Given the description of an element on the screen output the (x, y) to click on. 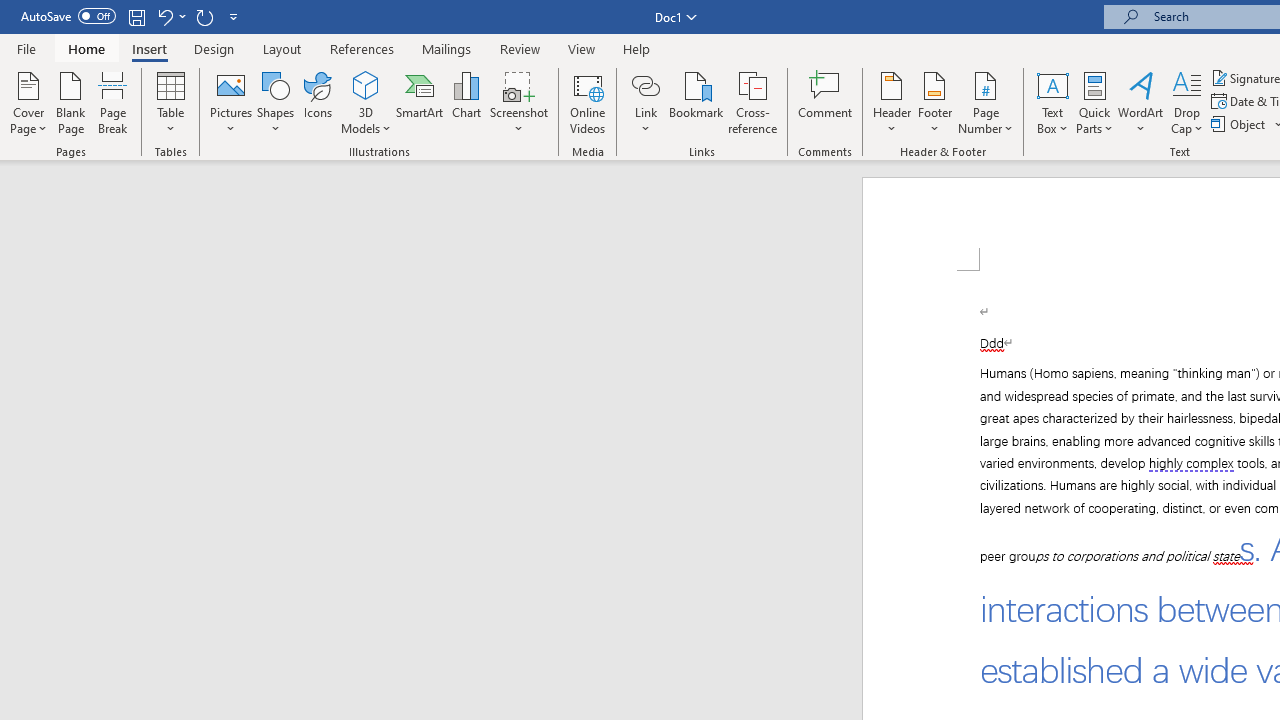
Header (891, 102)
Drop Cap (1187, 102)
Bookmark... (695, 102)
Chart... (466, 102)
Cover Page (28, 102)
Shapes (275, 102)
3D Models (366, 102)
Pictures (230, 102)
Undo Apply Quick Style Set (170, 15)
